Given the description of an element on the screen output the (x, y) to click on. 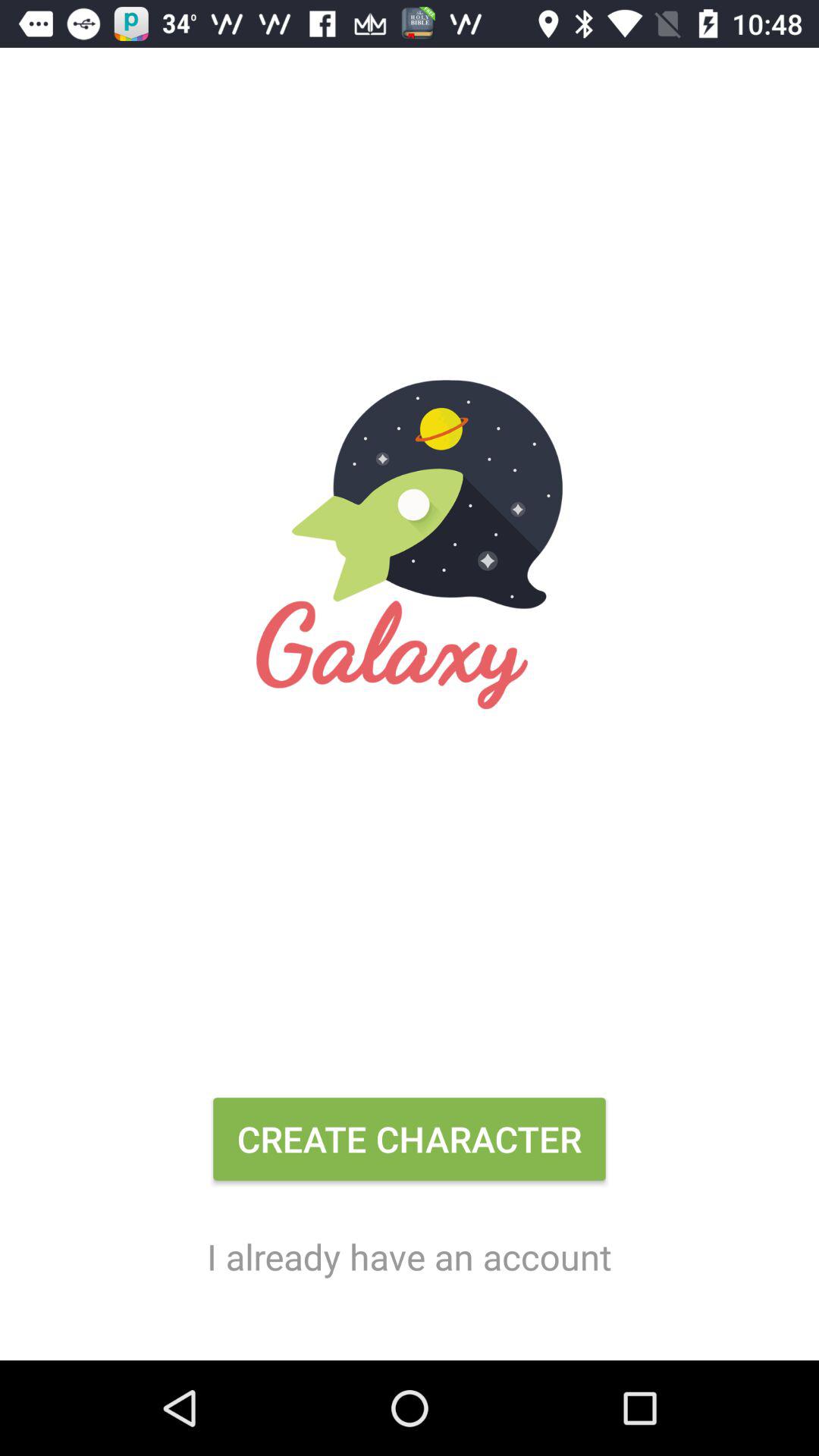
launch the item above i already have item (409, 1145)
